Given the description of an element on the screen output the (x, y) to click on. 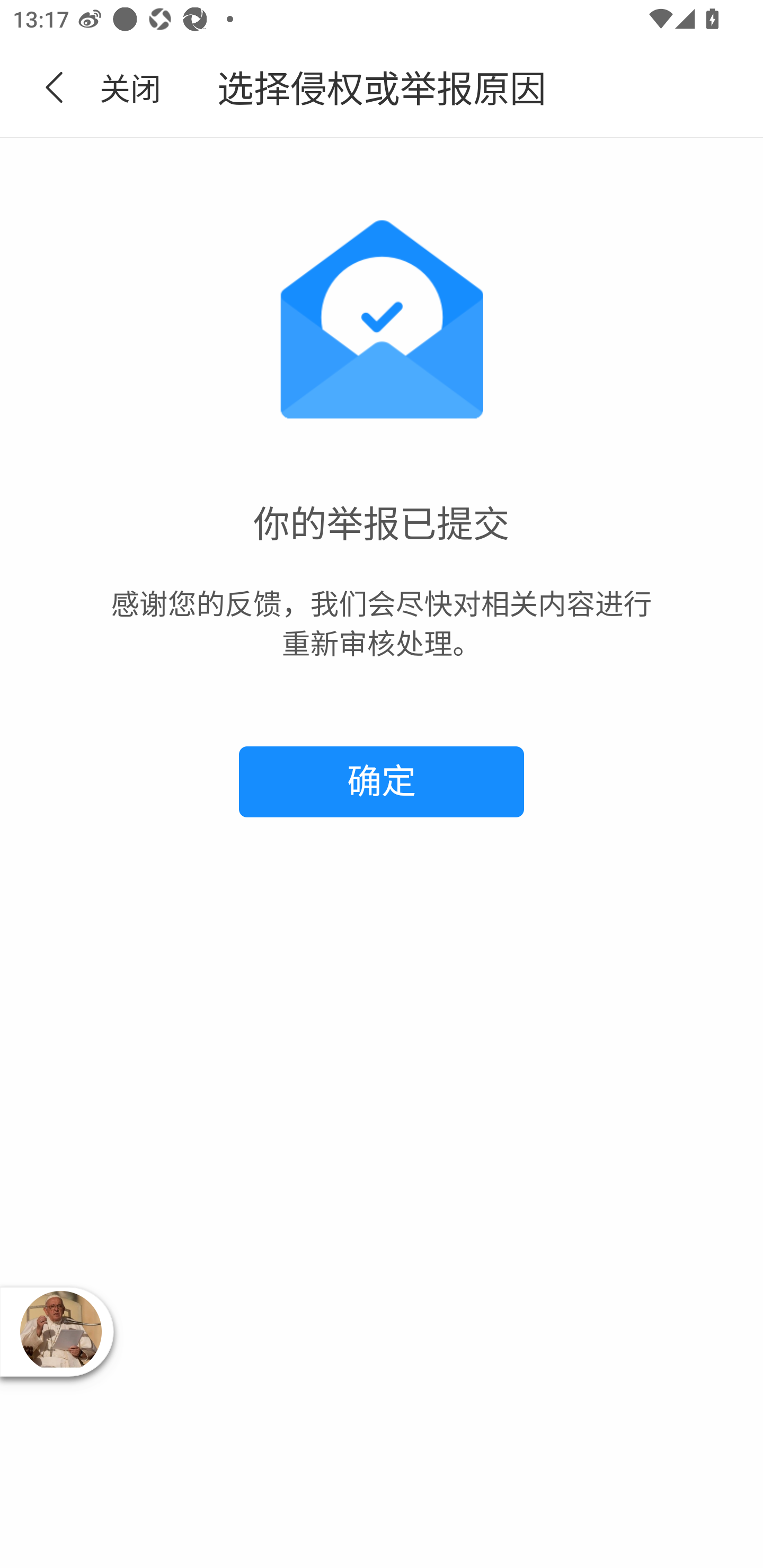
关闭 (119, 87)
 返回 (54, 87)
选择侵权或举报原因 (381, 88)
确定 (381, 781)
播放器 (60, 1331)
